Given the description of an element on the screen output the (x, y) to click on. 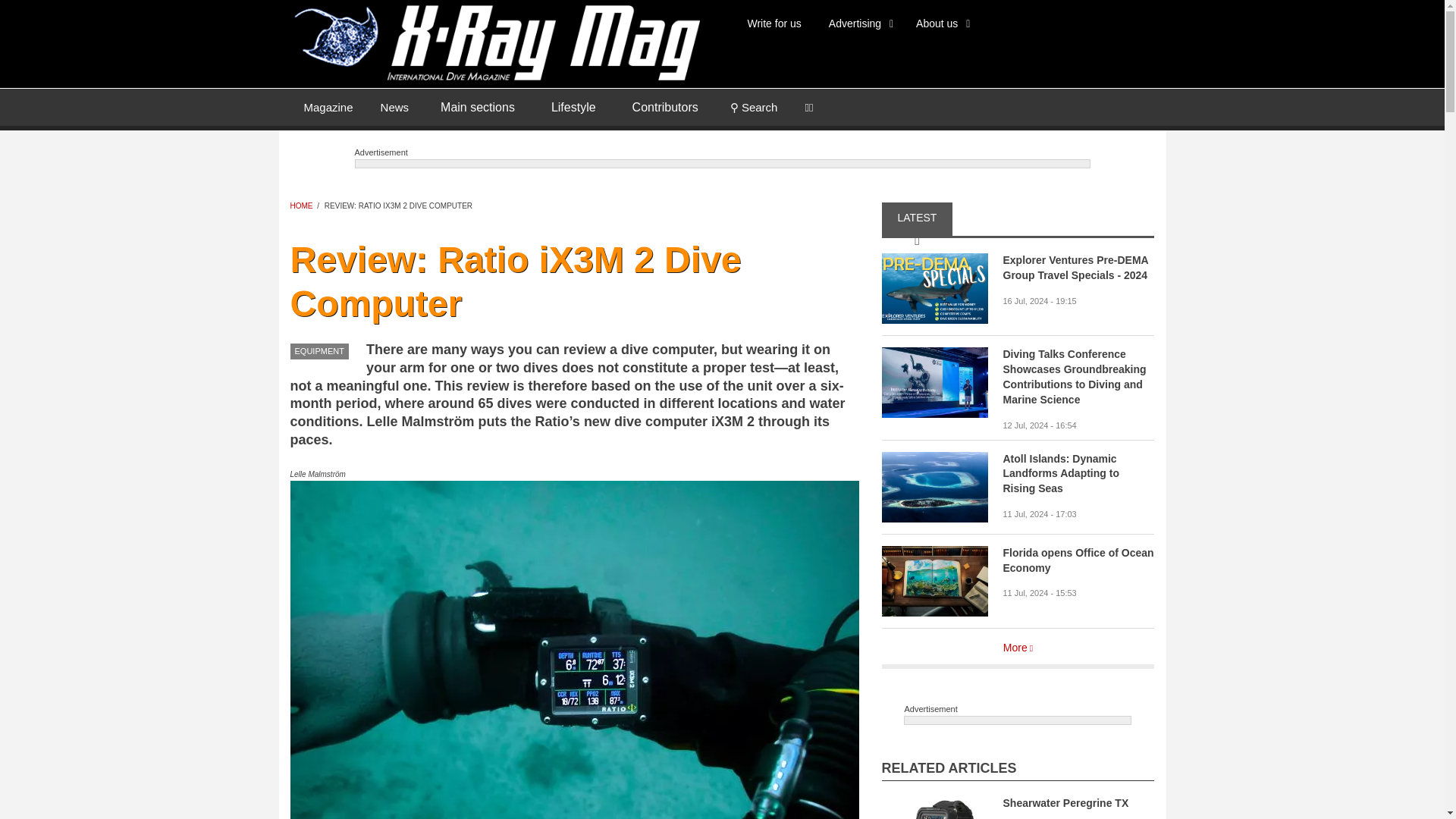
Advertising (858, 23)
Main sections (477, 107)
Magazine (327, 106)
Home (493, 41)
News (394, 106)
Back issues (327, 106)
About us (940, 23)
Latest posts (394, 106)
Advertising and promotions (858, 23)
